Given the description of an element on the screen output the (x, y) to click on. 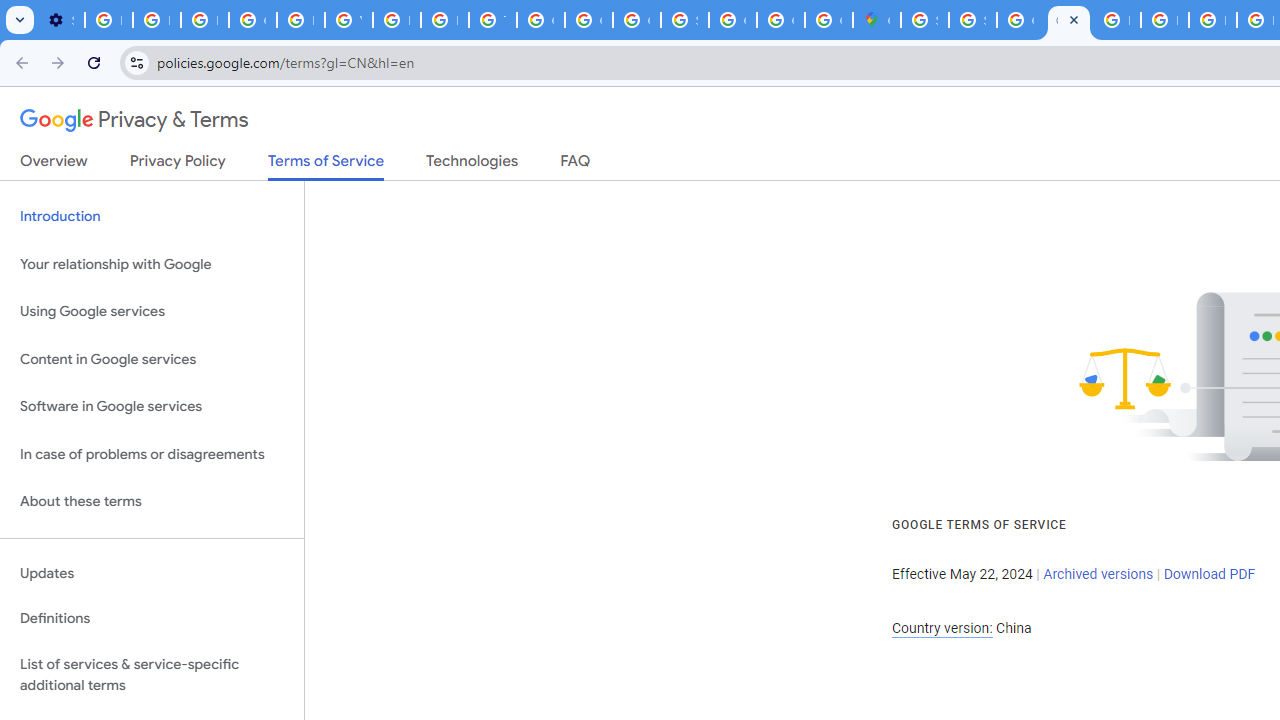
Privacy Help Center - Policies Help (300, 20)
Delete photos & videos - Computer - Google Photos Help (108, 20)
Google Maps (876, 20)
Using Google services (152, 312)
Sign in - Google Accounts (924, 20)
